Given the description of an element on the screen output the (x, y) to click on. 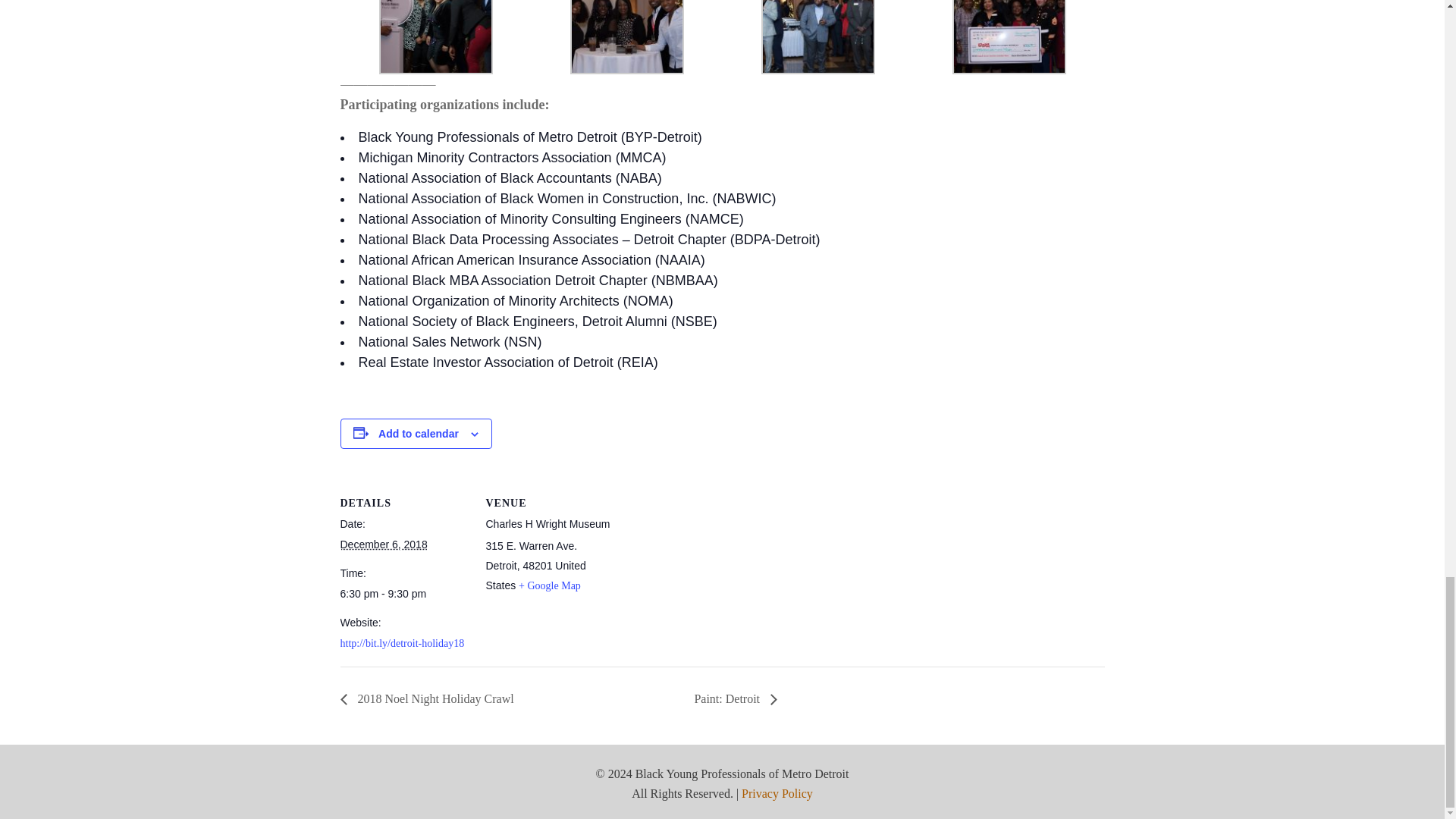
2018-12-06 (403, 593)
Click to view a Google Map (549, 585)
2018-12-06 (382, 544)
Privacy Policy (776, 793)
Paint: Detroit (731, 698)
2018 Noel Night Holiday Crawl (430, 698)
Add to calendar (418, 433)
